Given the description of an element on the screen output the (x, y) to click on. 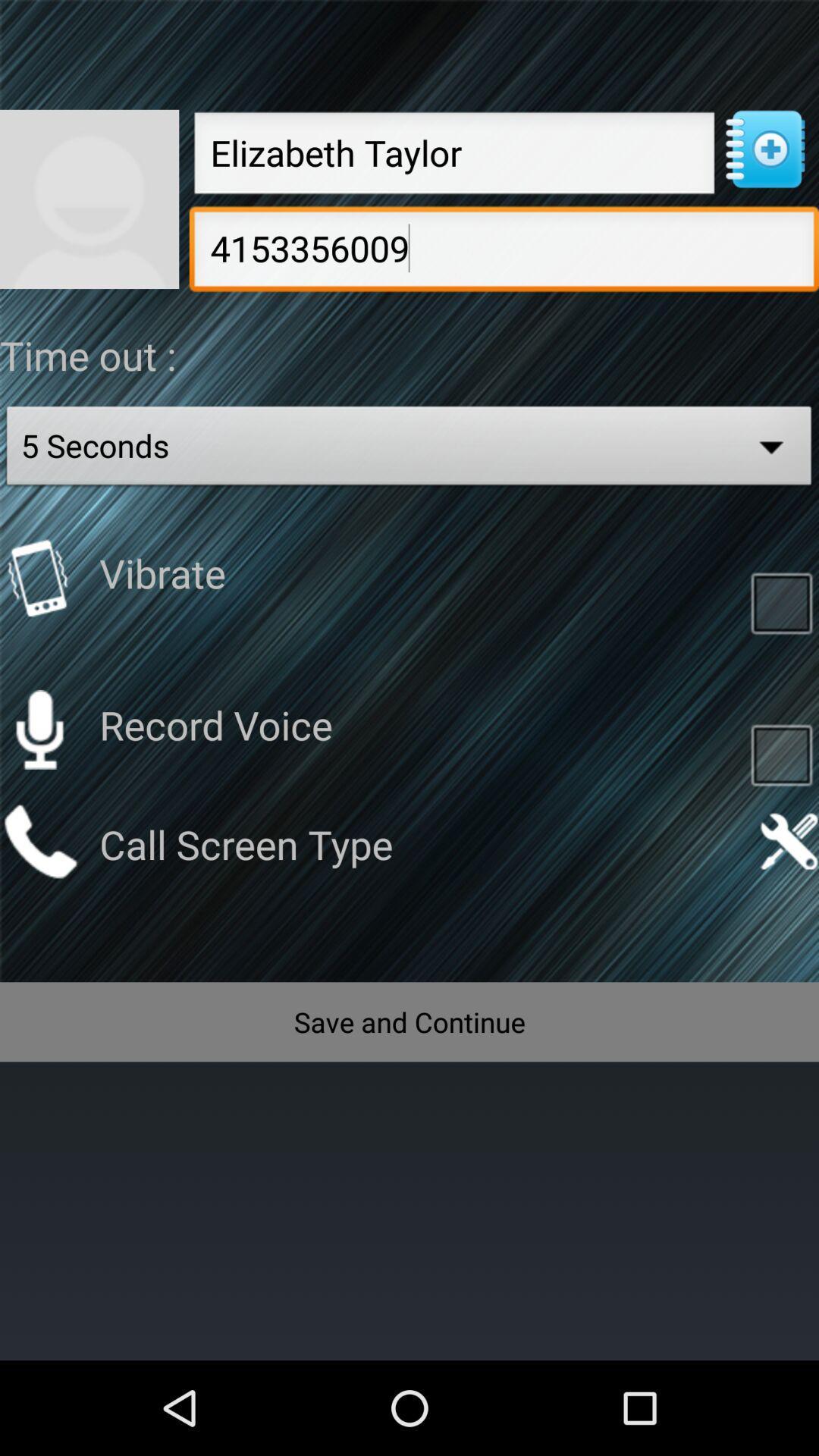
go to settings (789, 841)
